Given the description of an element on the screen output the (x, y) to click on. 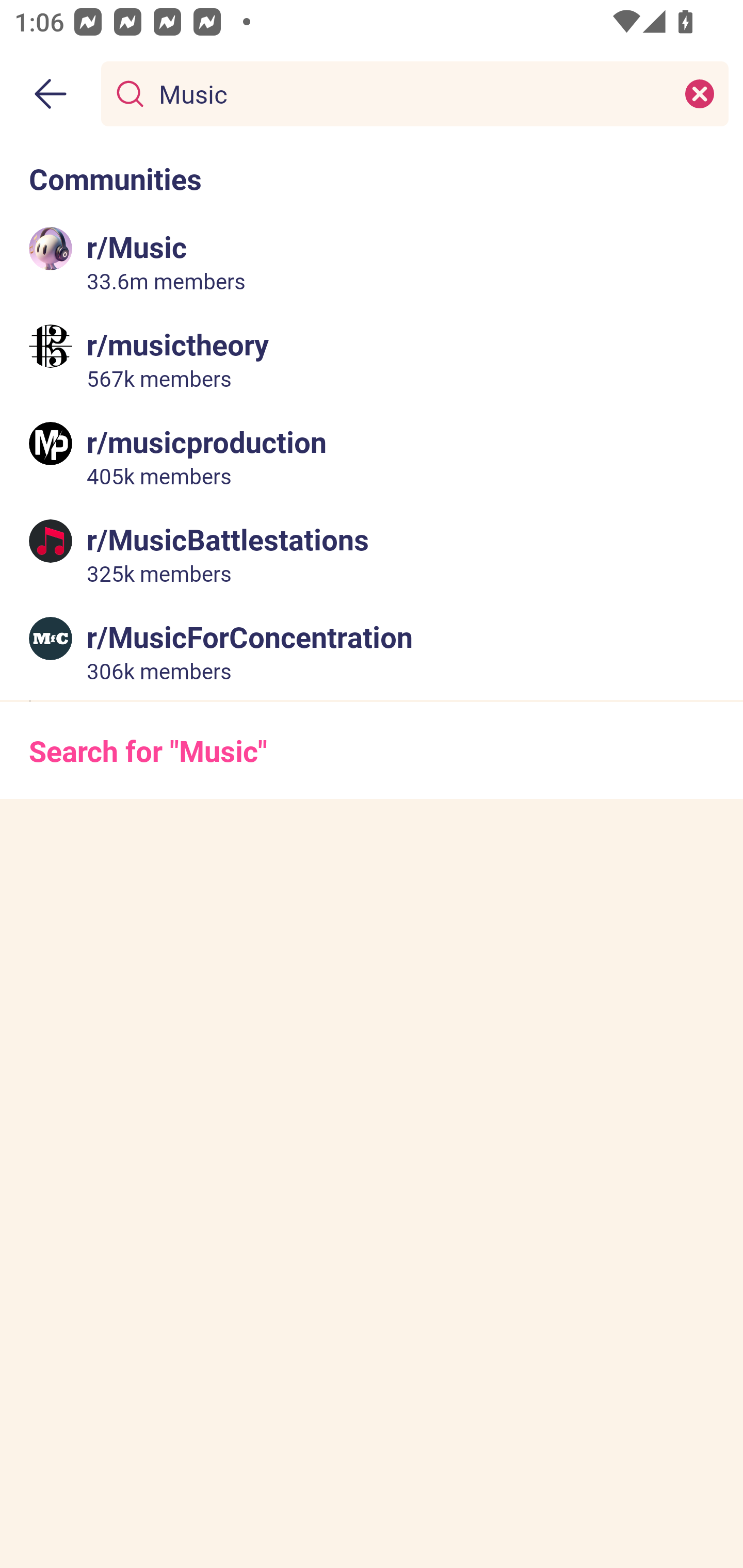
Back (50, 93)
Music (410, 93)
Clear search (699, 93)
r/Music 33.6m members 33.6 million members (371, 261)
r/musictheory 567k members 567 thousand members (371, 358)
Search for "Music" (371, 750)
